Given the description of an element on the screen output the (x, y) to click on. 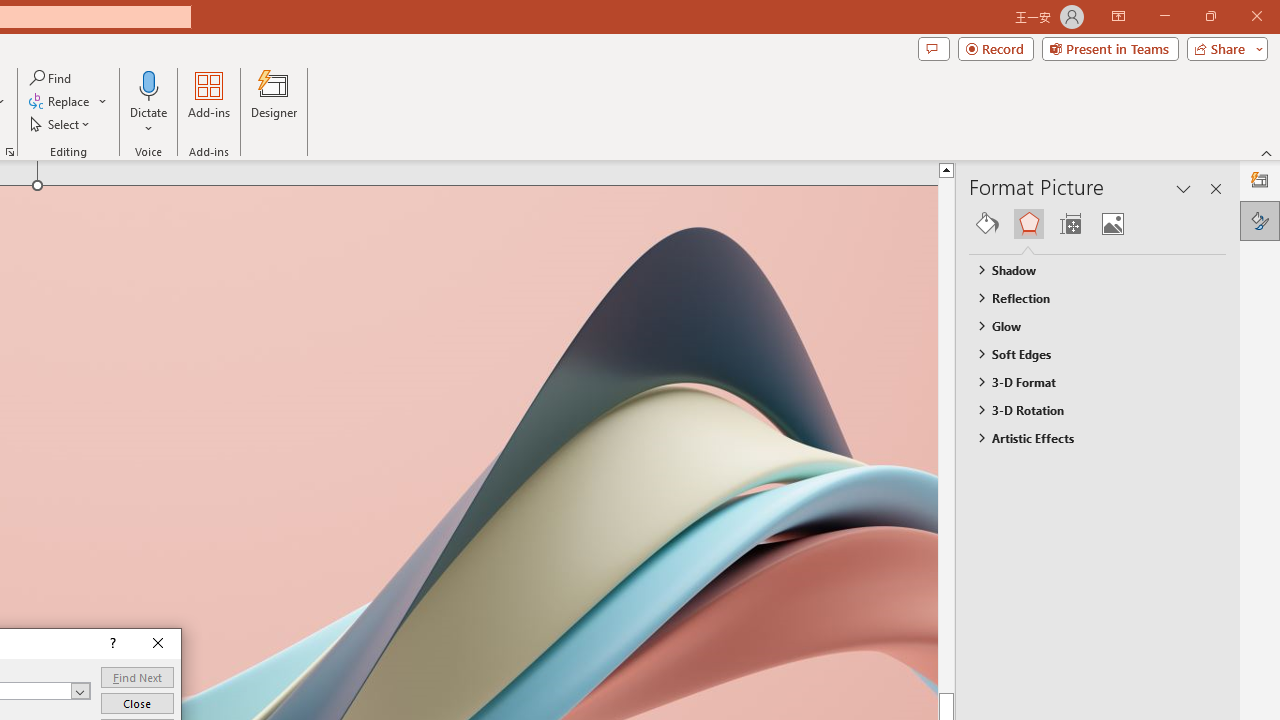
Designer (274, 102)
Find... (51, 78)
Close (157, 643)
Dictate (149, 102)
Minimize (1164, 16)
Find Next (137, 677)
Line up (983, 169)
Glow (1088, 325)
Format Object... (9, 151)
Class: NetUIGalleryContainer (1098, 223)
Designer (1260, 180)
Fill & Line (987, 223)
More Options (149, 121)
Restore Down (1210, 16)
Shadow (1088, 269)
